Given the description of an element on the screen output the (x, y) to click on. 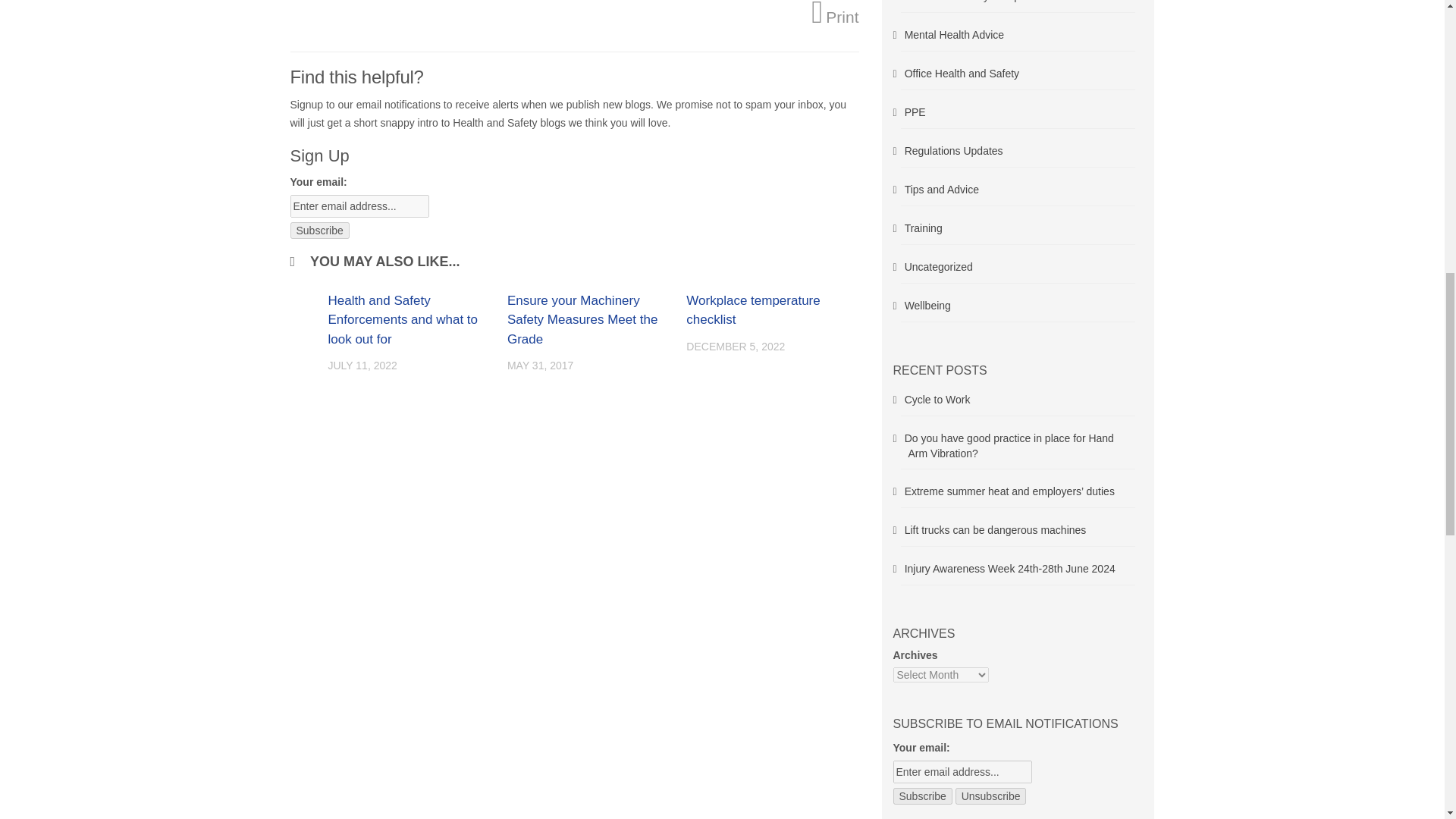
Health and Safety Enforcements and what to look out for (402, 319)
Health and Safety Enforcements and what to look out for (402, 319)
Workplace temperature checklist (752, 310)
Enter email address... (358, 205)
Subscribe (922, 795)
Ensure your Machinery Safety Measures Meet the Grade (582, 319)
Subscribe (319, 230)
Enter email address... (962, 771)
Subscribe (319, 230)
Unsubscribe (990, 795)
Workplace temperature checklist (752, 310)
Ensure your Machinery Safety Measures Meet the Grade (582, 319)
